Given the description of an element on the screen output the (x, y) to click on. 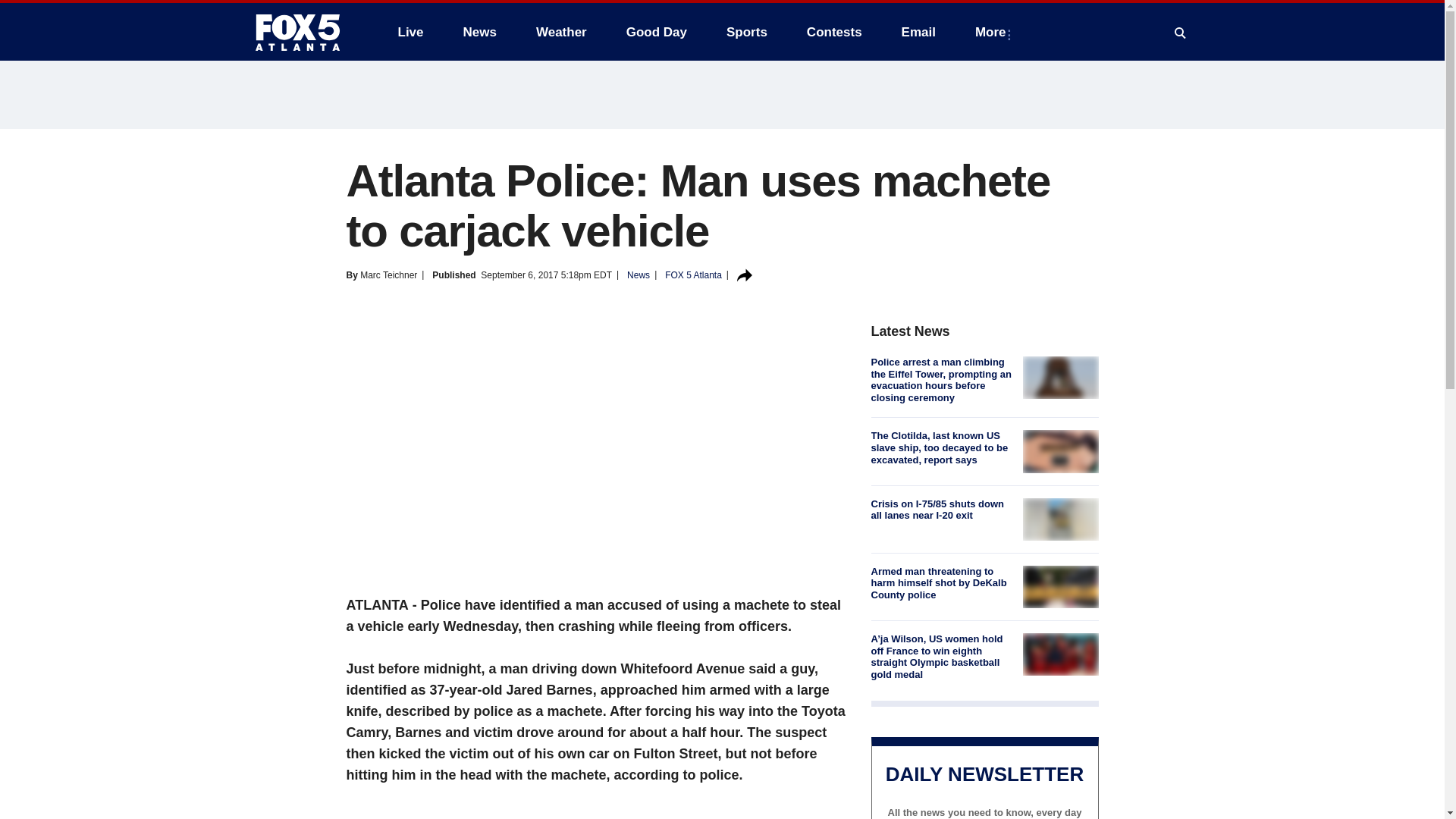
News (479, 32)
More (993, 32)
Good Day (656, 32)
Sports (746, 32)
Contests (834, 32)
Email (918, 32)
Live (410, 32)
Weather (561, 32)
